Given the description of an element on the screen output the (x, y) to click on. 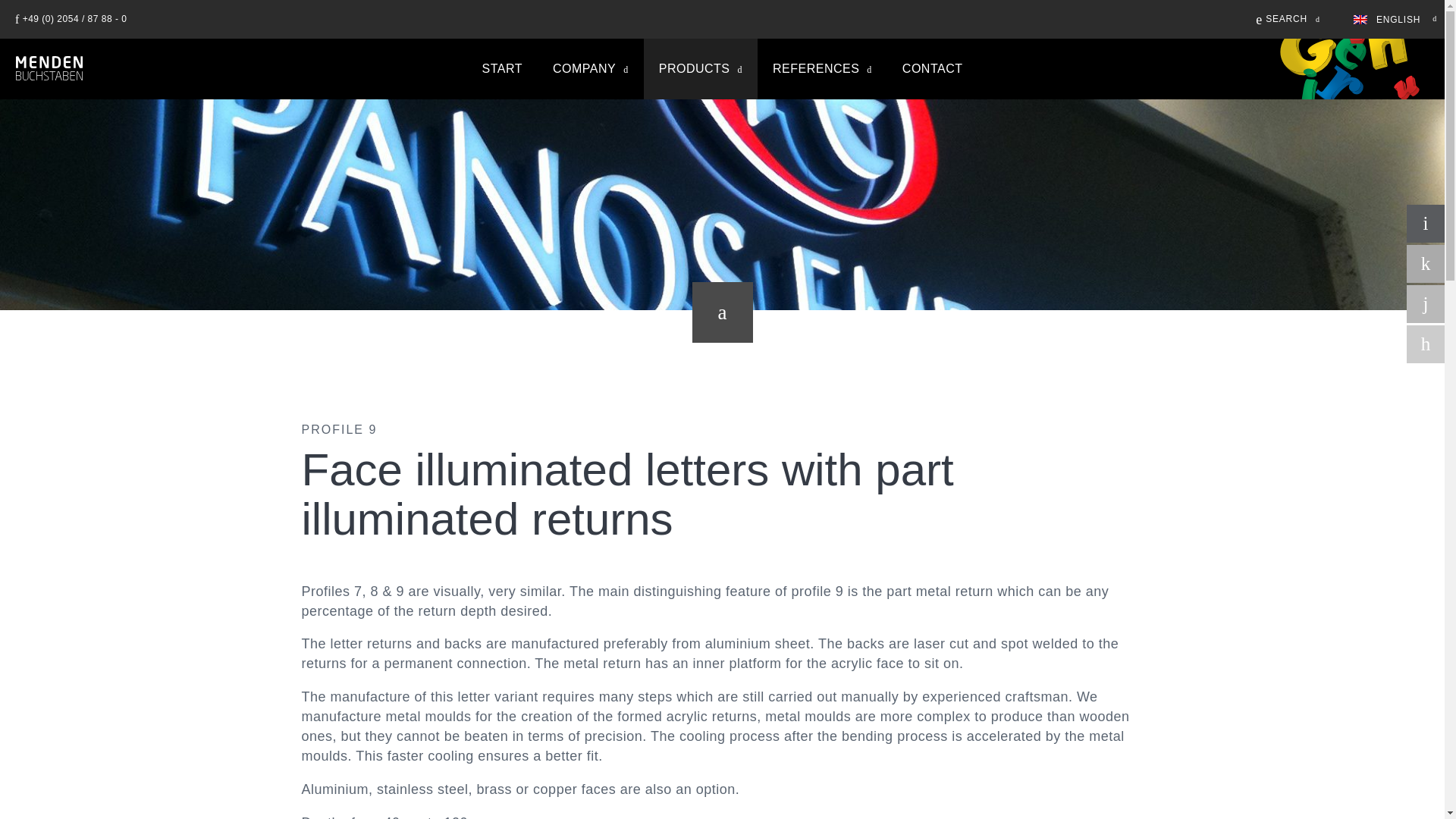
SEARCH (1287, 18)
START (502, 68)
PRODUCTS (700, 68)
COMPANY (590, 68)
